Given the description of an element on the screen output the (x, y) to click on. 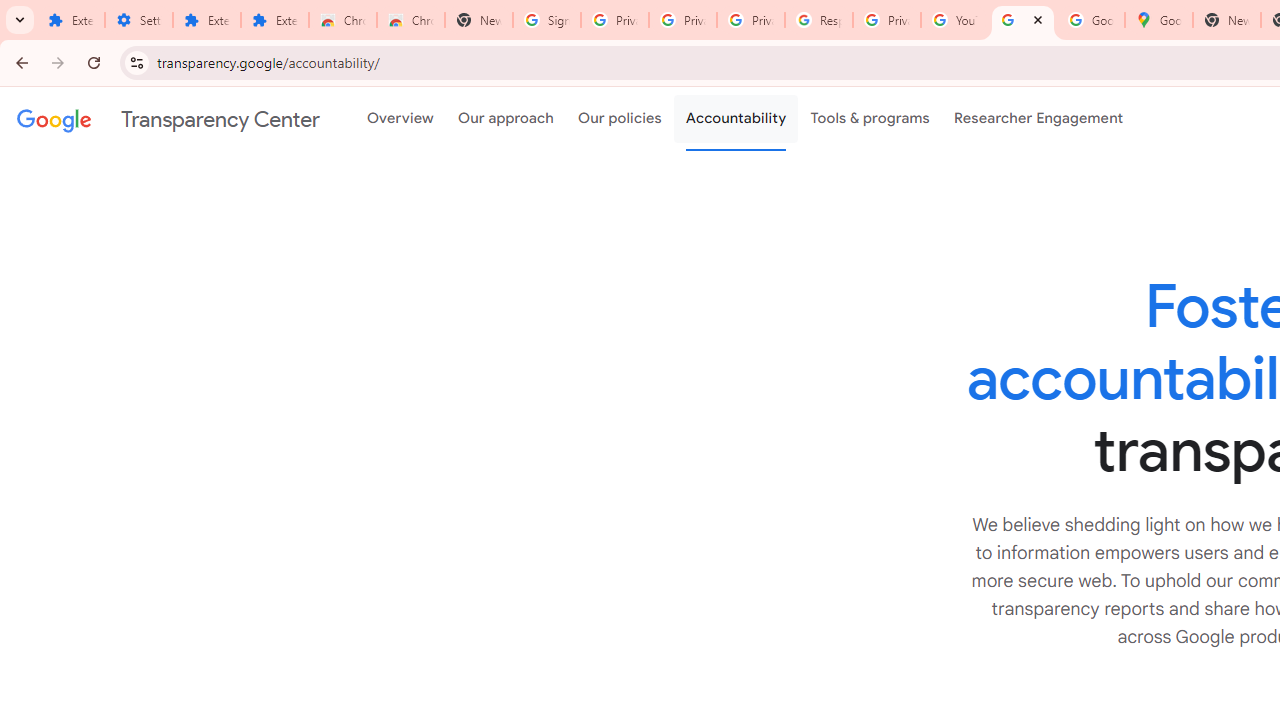
Transparency Center (167, 119)
Chrome Web Store (342, 20)
Extensions (206, 20)
Extensions (70, 20)
Our approach (506, 119)
Sign in - Google Accounts (547, 20)
New Tab (1226, 20)
Extensions (274, 20)
YouTube (954, 20)
